Given the description of an element on the screen output the (x, y) to click on. 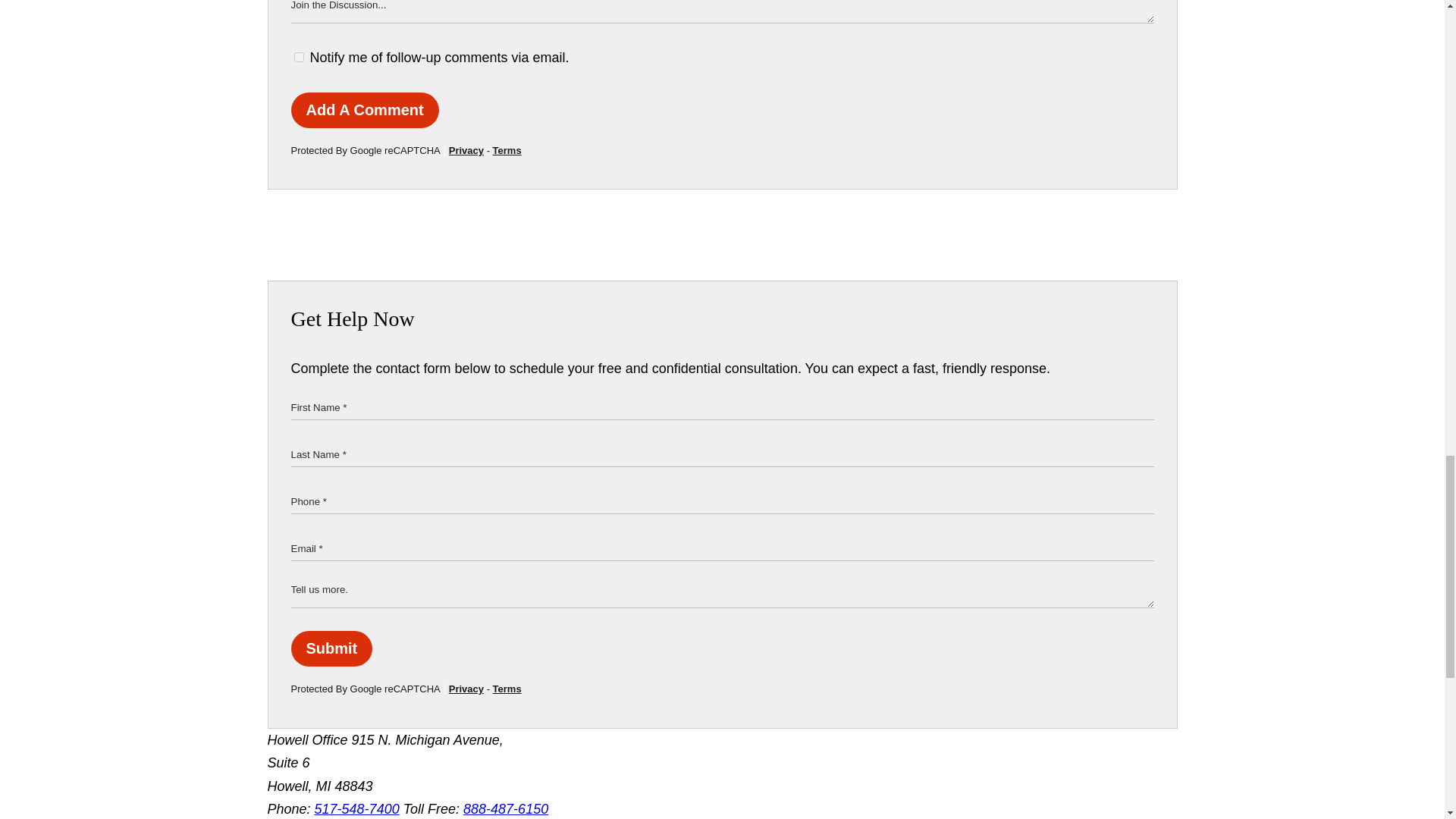
Add A Comment (365, 109)
Submit (331, 648)
Privacy (465, 150)
Privacy (465, 688)
1 (299, 57)
Terms (507, 150)
